Given the description of an element on the screen output the (x, y) to click on. 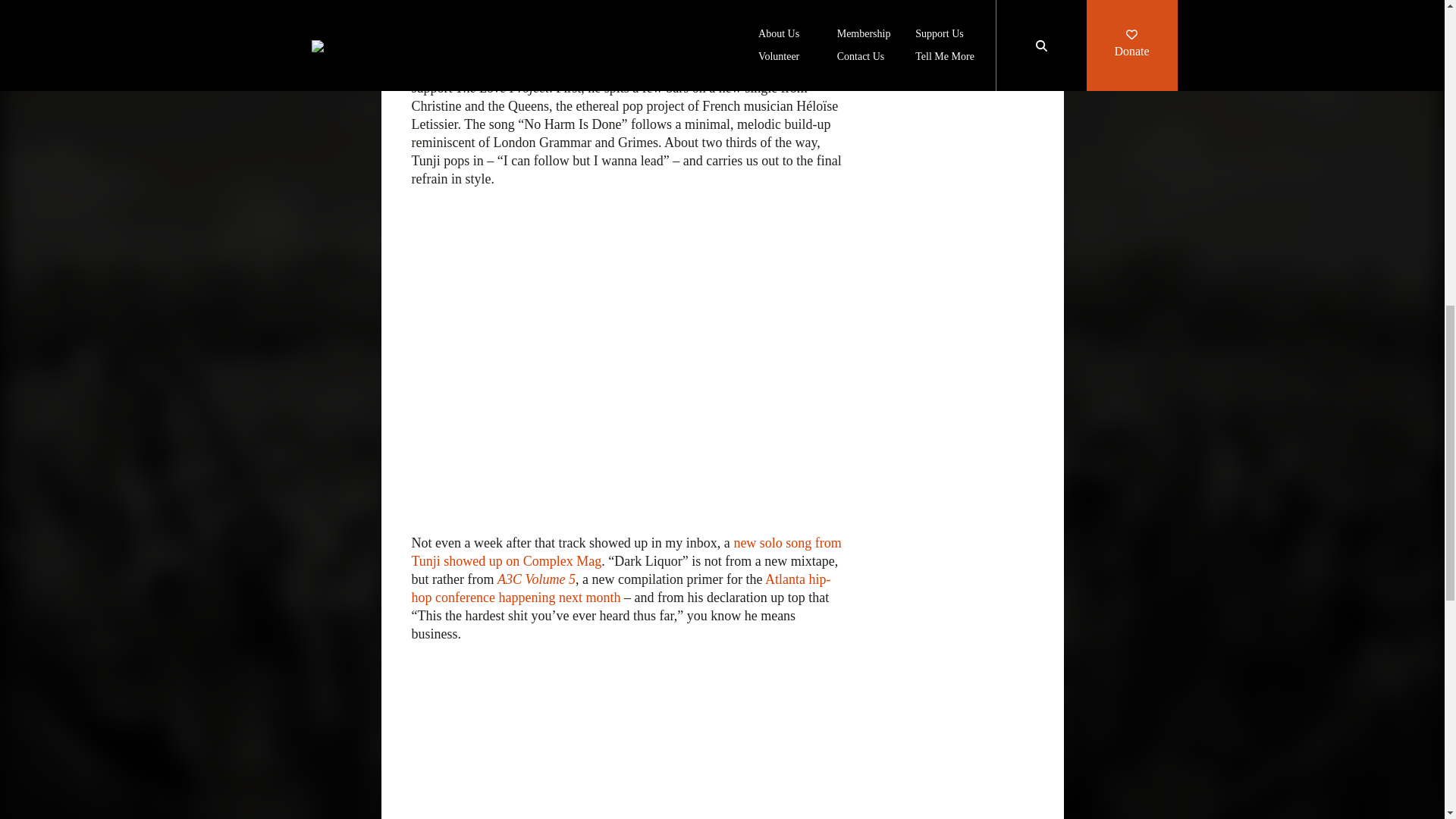
A3C Volume 5 (536, 579)
new solo song from Tunji showed up on Complex Mag (625, 551)
Atlanta hip-hop conference happening next month (619, 588)
Tunji Ige (560, 2)
